Given the description of an element on the screen output the (x, y) to click on. 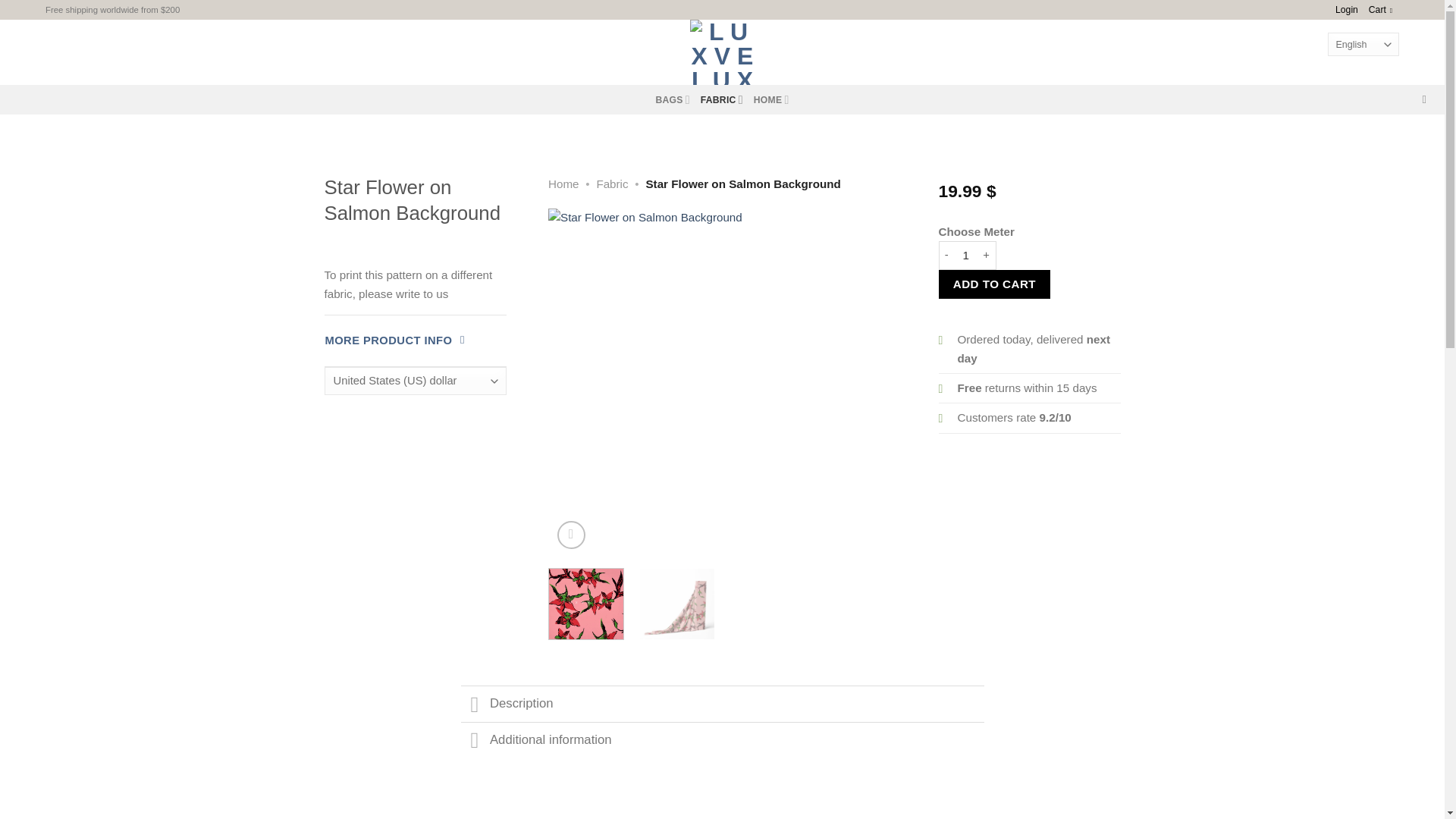
BAGS (671, 99)
Star Flower on Salmon Background (722, 382)
MORE PRODUCT INFO (394, 340)
Fabric (611, 183)
Home (563, 183)
Additional information (722, 739)
Zoom (571, 534)
Star Flower on Salmon Background (1070, 382)
Login (1346, 9)
l u x v e l u x - Live life with luxury products (721, 52)
